Given the description of an element on the screen output the (x, y) to click on. 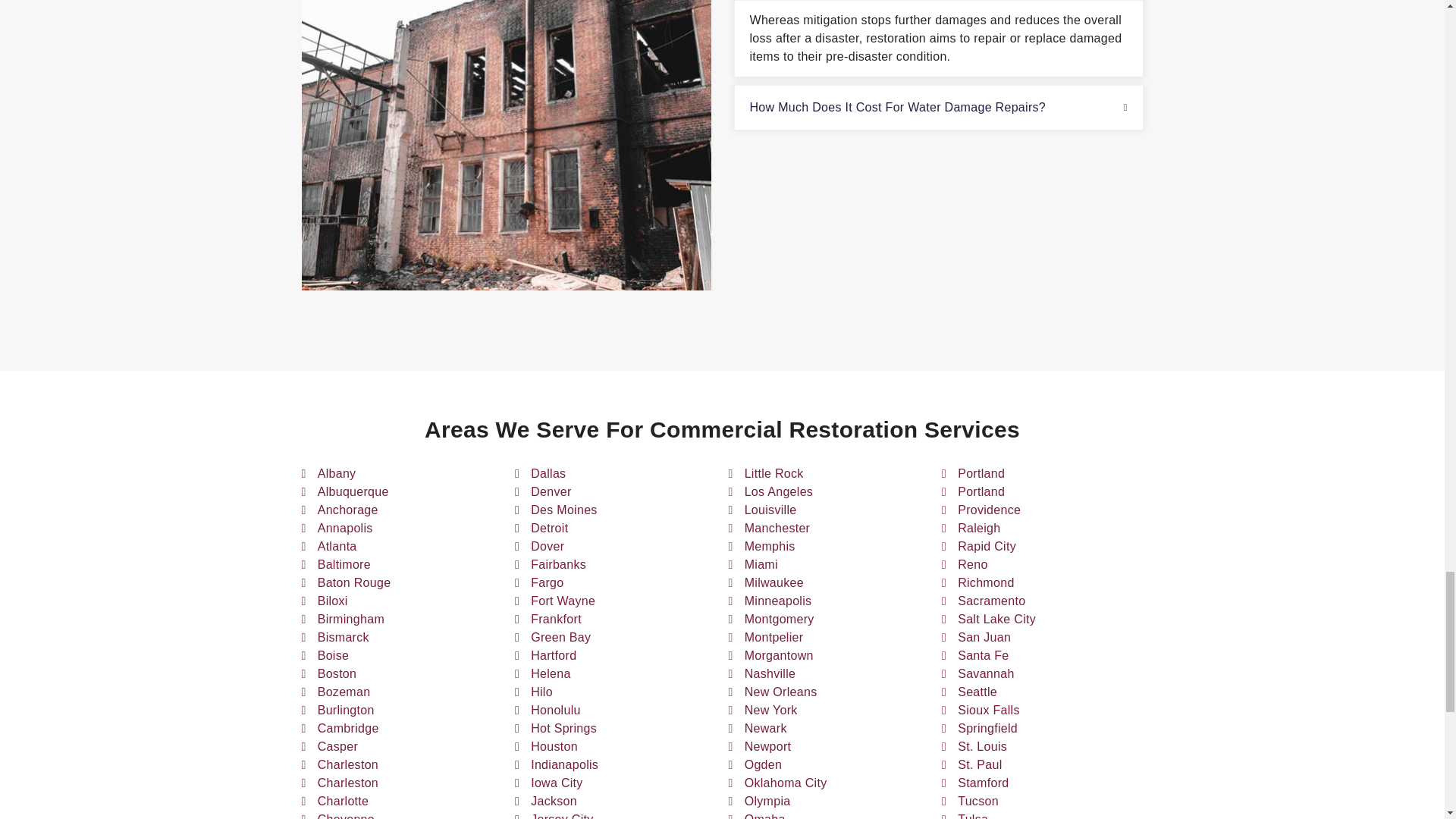
Albuquerque (352, 492)
Albany (336, 474)
Annapolis (344, 528)
How Much Does It Cost For Water Damage Repairs? (937, 107)
Anchorage (347, 510)
